Given the description of an element on the screen output the (x, y) to click on. 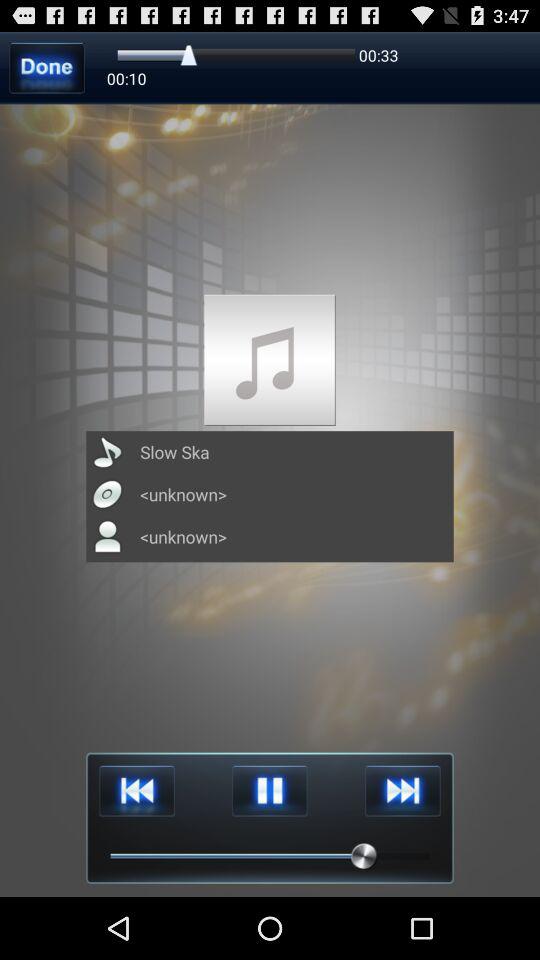
previous (136, 790)
